Given the description of an element on the screen output the (x, y) to click on. 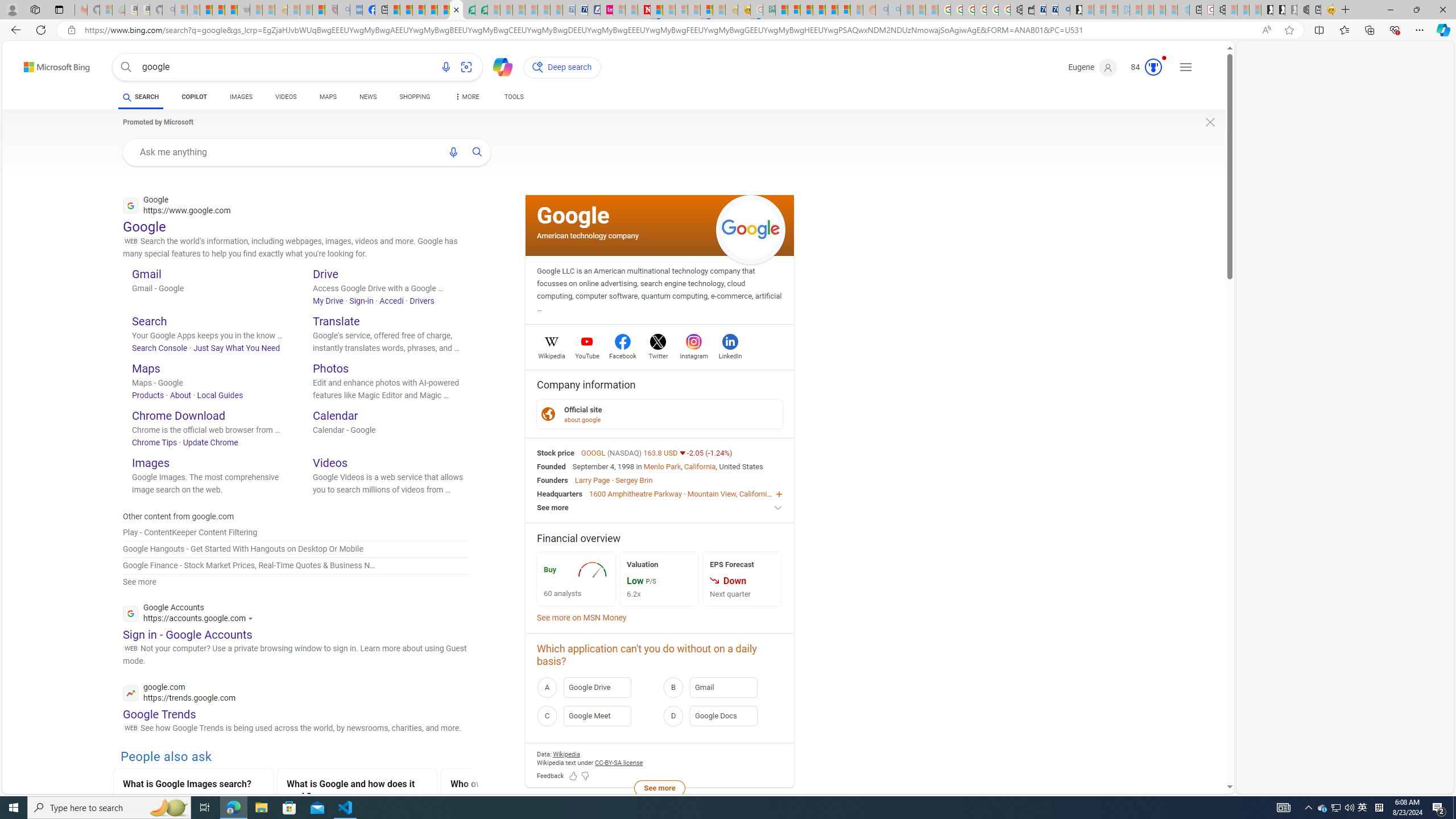
Kinda Frugal - MSN (832, 9)
MAPS (327, 96)
Maps (146, 368)
AutomationID: mfa_root (1186, 752)
The Weather Channel - MSN (205, 9)
